Given the description of an element on the screen output the (x, y) to click on. 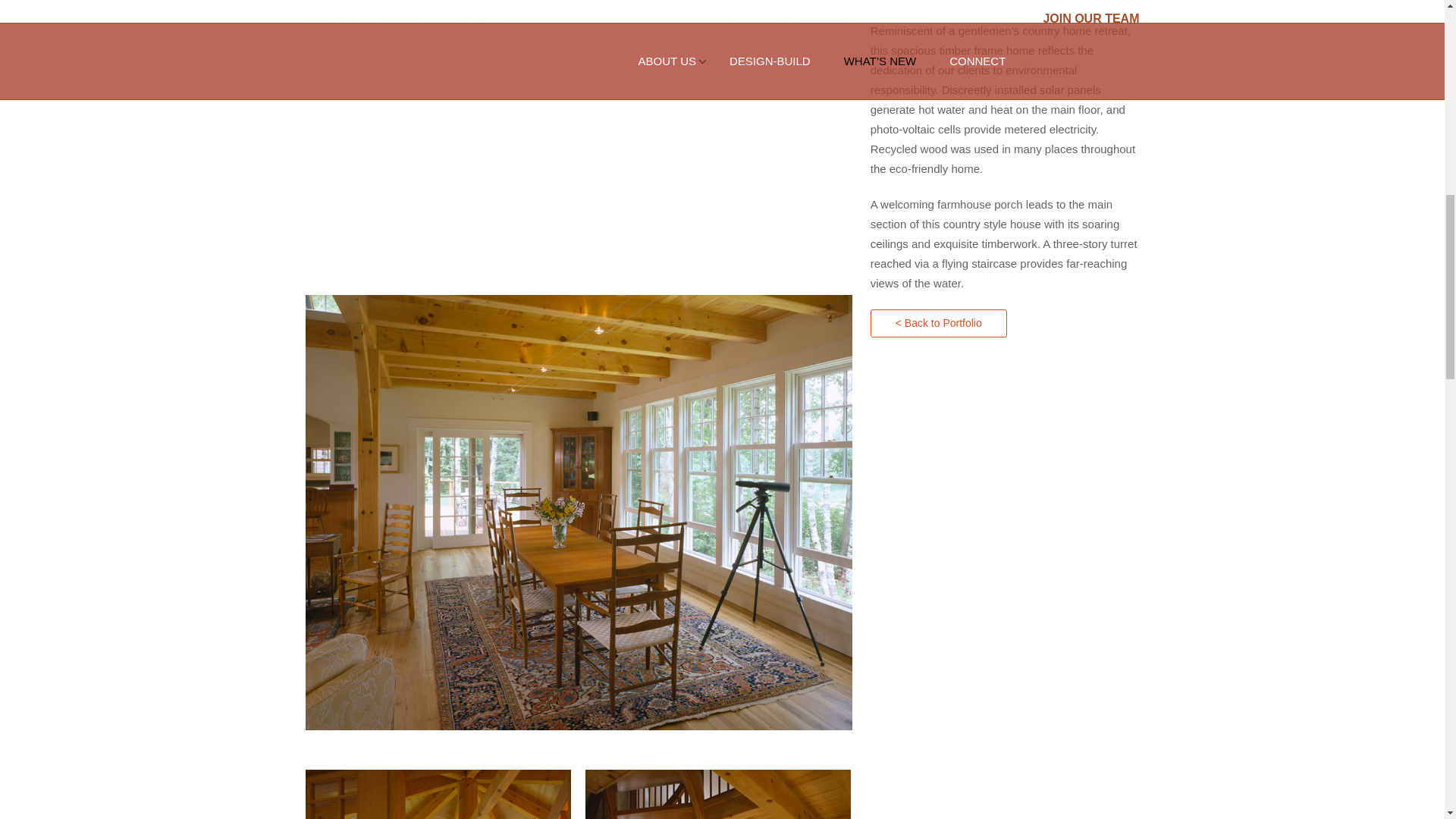
Eco-Friendly Design (577, 284)
